Given the description of an element on the screen output the (x, y) to click on. 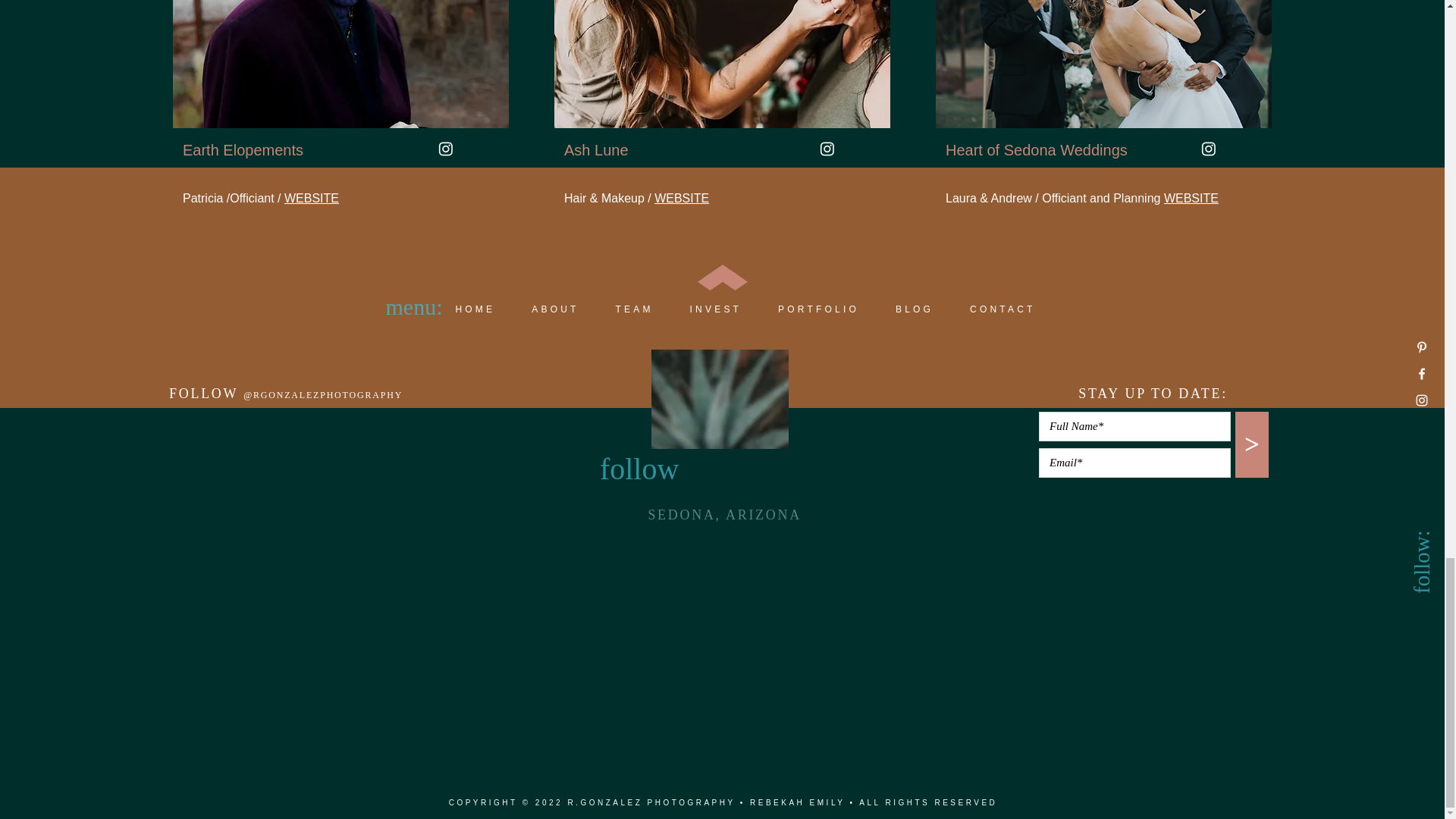
WEBSITE (1190, 197)
TEAM (633, 309)
CONTACT (1002, 309)
WEBSITE (311, 197)
BLOG (914, 309)
INVEST (715, 309)
PORTFOLIO (818, 309)
ABOUT (554, 309)
HOME (474, 309)
WEBSITE (681, 197)
